Given the description of an element on the screen output the (x, y) to click on. 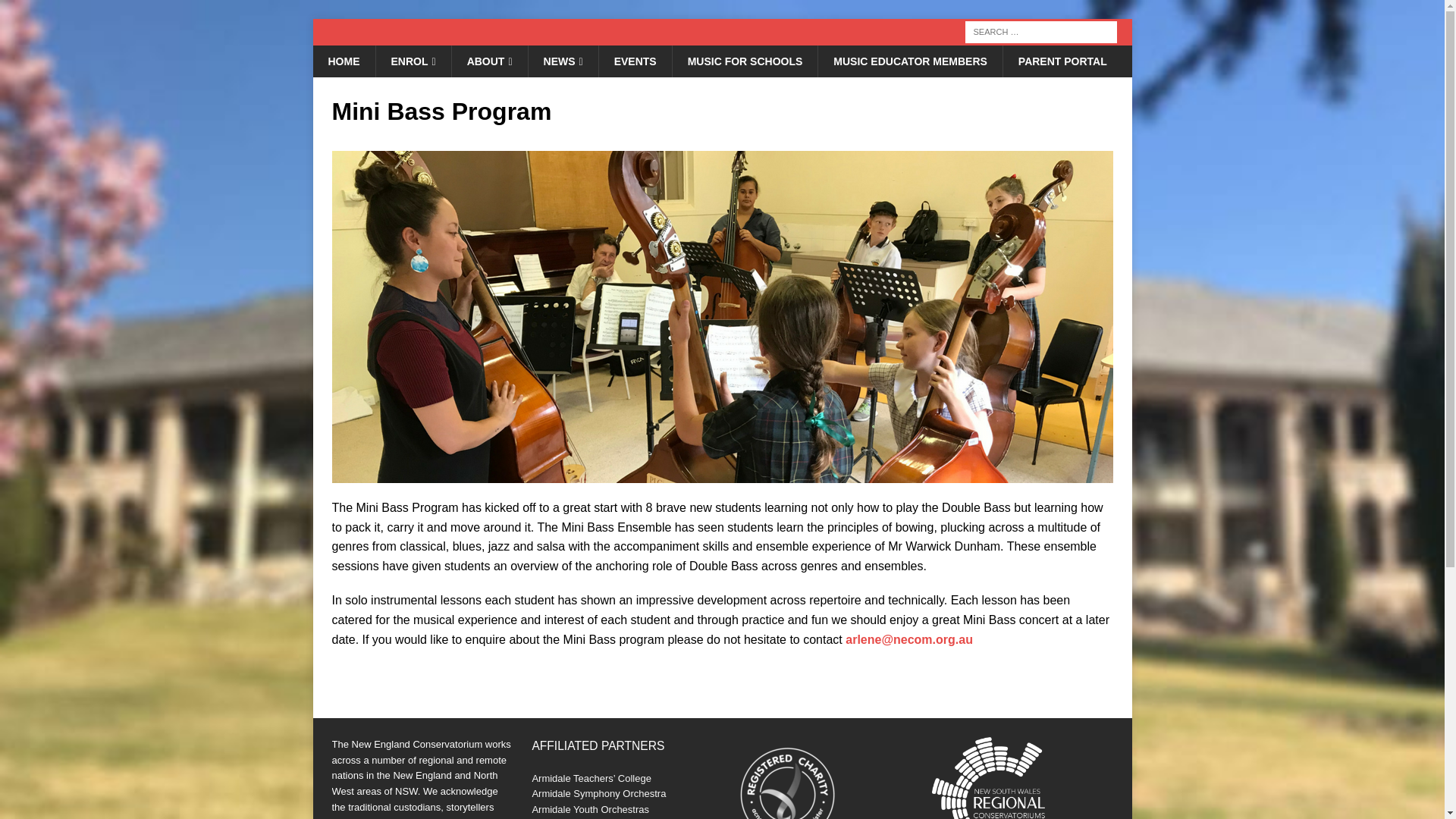
NEWS (562, 60)
HOME (343, 60)
ENROL (411, 60)
Search (56, 11)
EVENTS (634, 60)
ABOUT (489, 60)
